Given the description of an element on the screen output the (x, y) to click on. 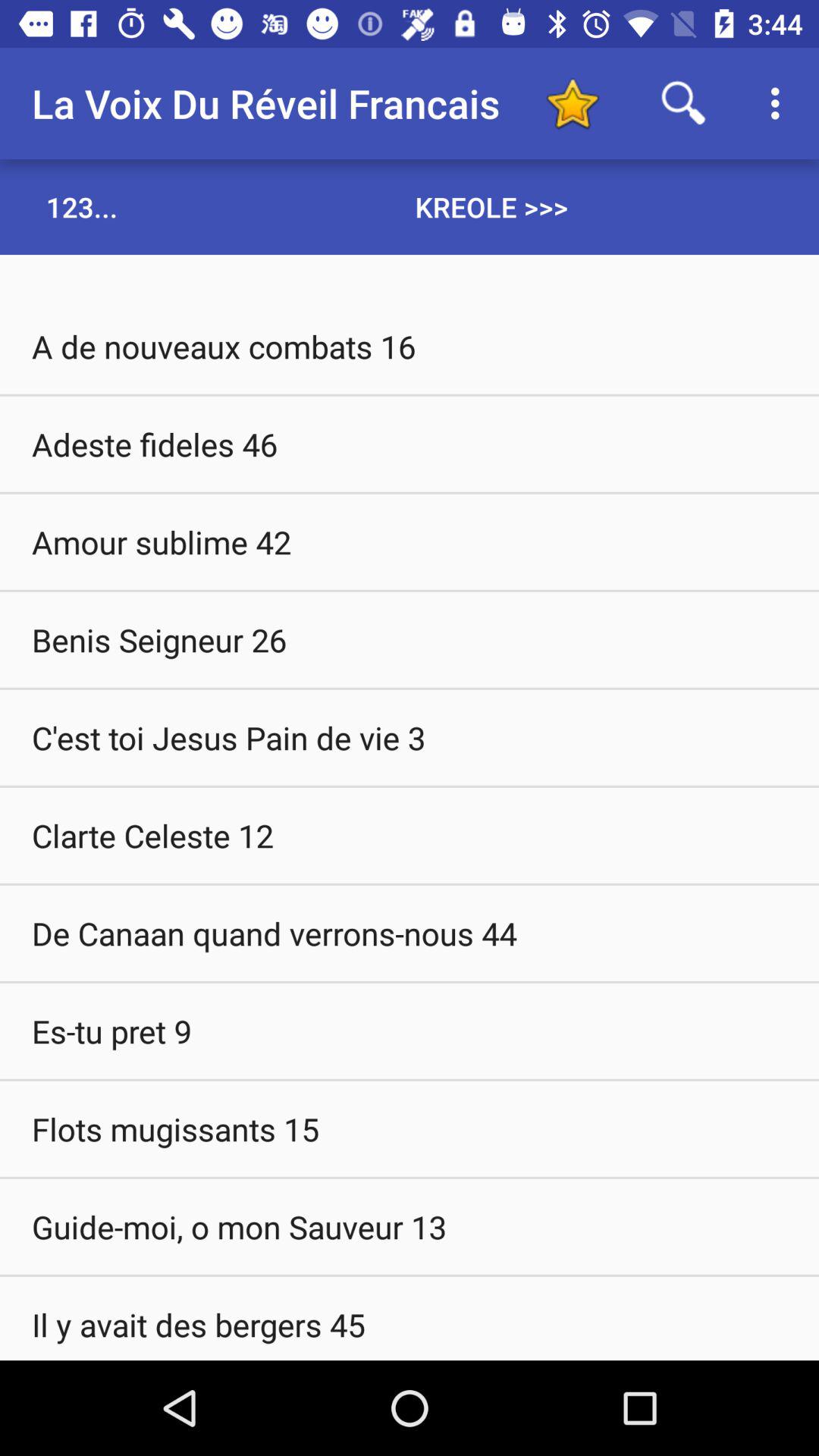
select app below the la voix du (81, 206)
